Given the description of an element on the screen output the (x, y) to click on. 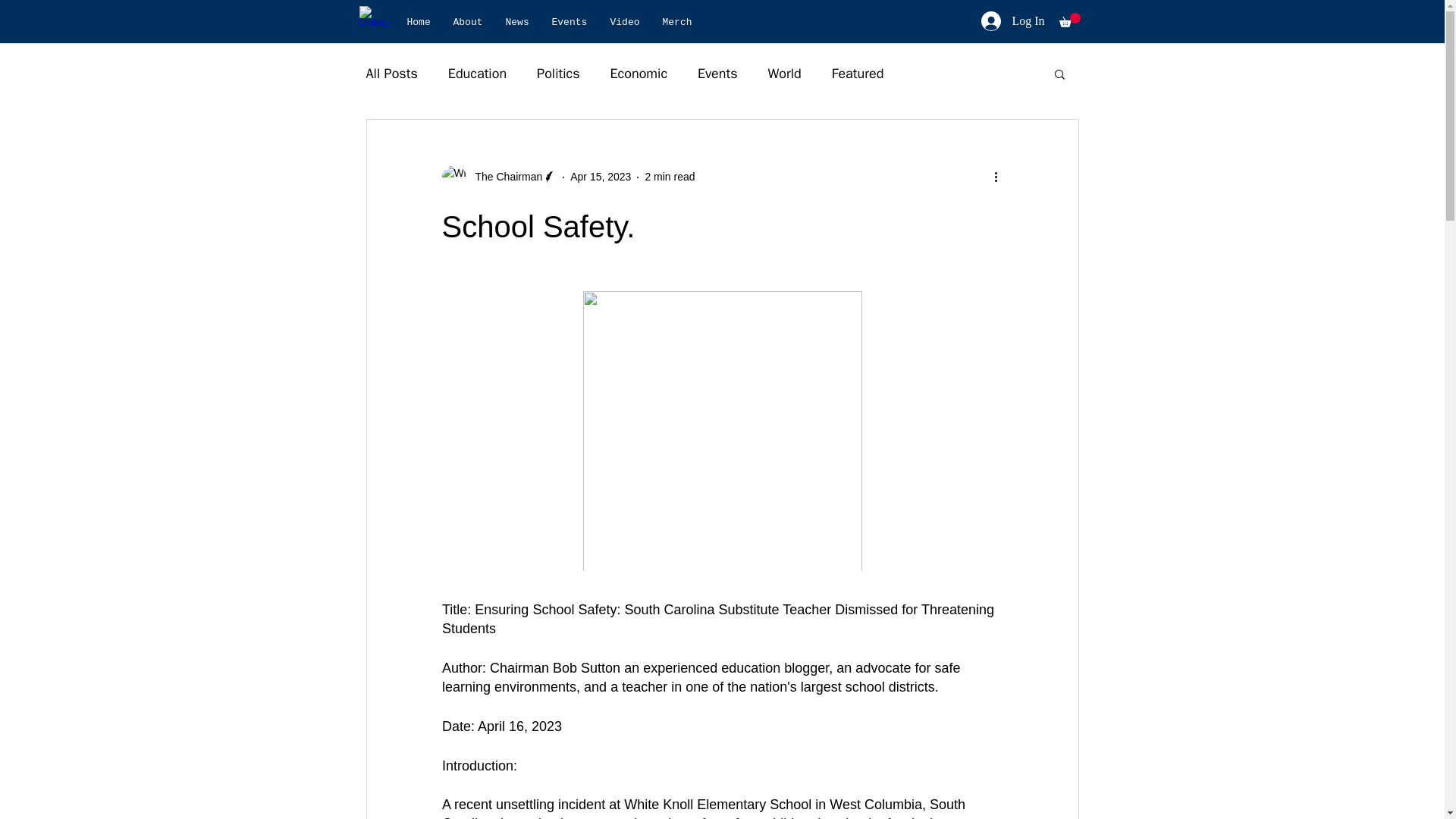
Featured (857, 73)
Events (569, 22)
Merch (676, 22)
News (517, 22)
Politics (558, 73)
The Chairman (503, 176)
All Posts (390, 73)
World (785, 73)
Education (477, 73)
Events (717, 73)
